Given the description of an element on the screen output the (x, y) to click on. 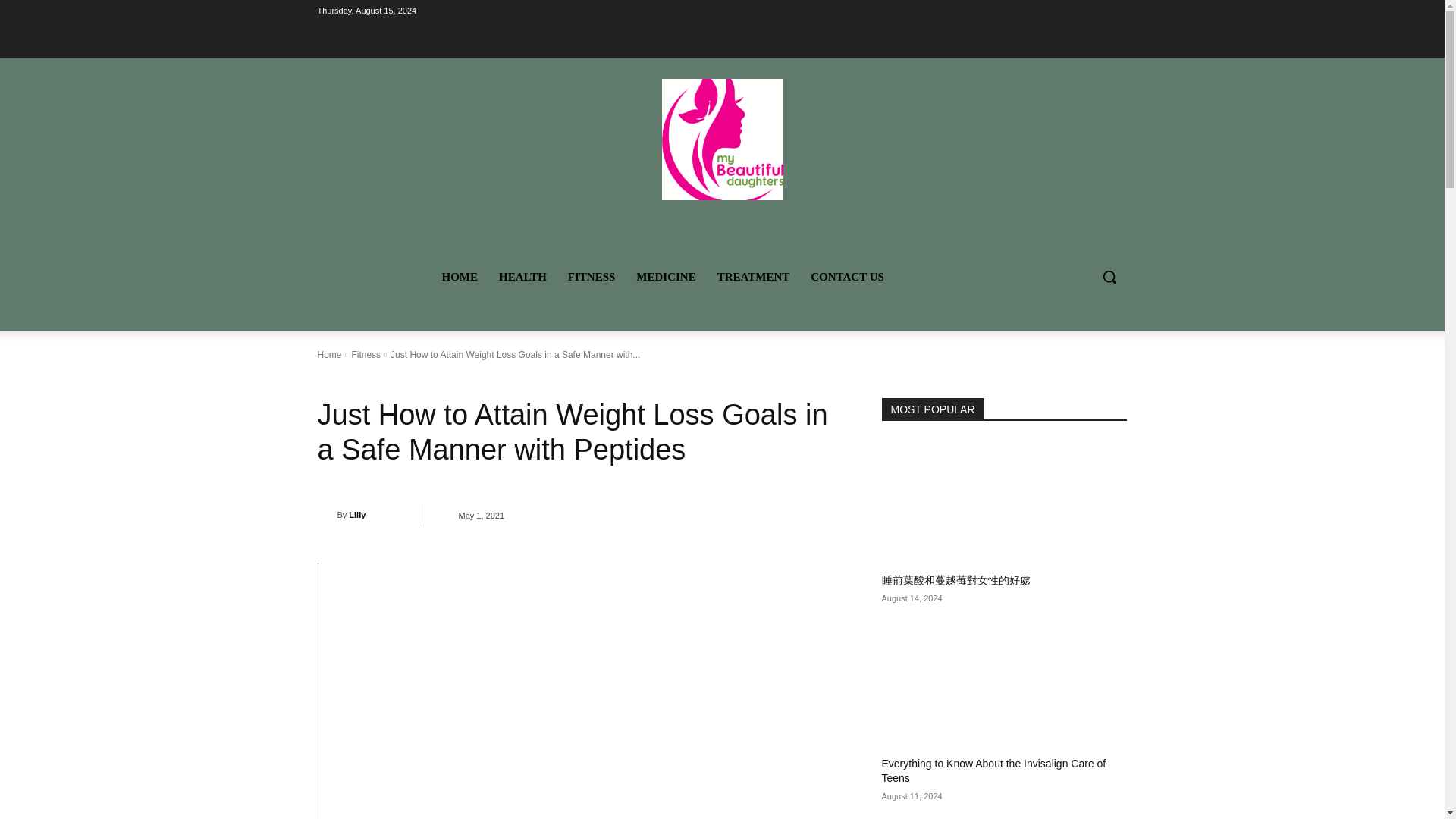
CONTACT US (847, 276)
TREATMENT (753, 276)
Fitness (365, 354)
HOME (458, 276)
MEDICINE (666, 276)
FITNESS (591, 276)
HEALTH (522, 276)
Lilly (326, 514)
View all posts in Fitness (365, 354)
Home (328, 354)
